Given the description of an element on the screen output the (x, y) to click on. 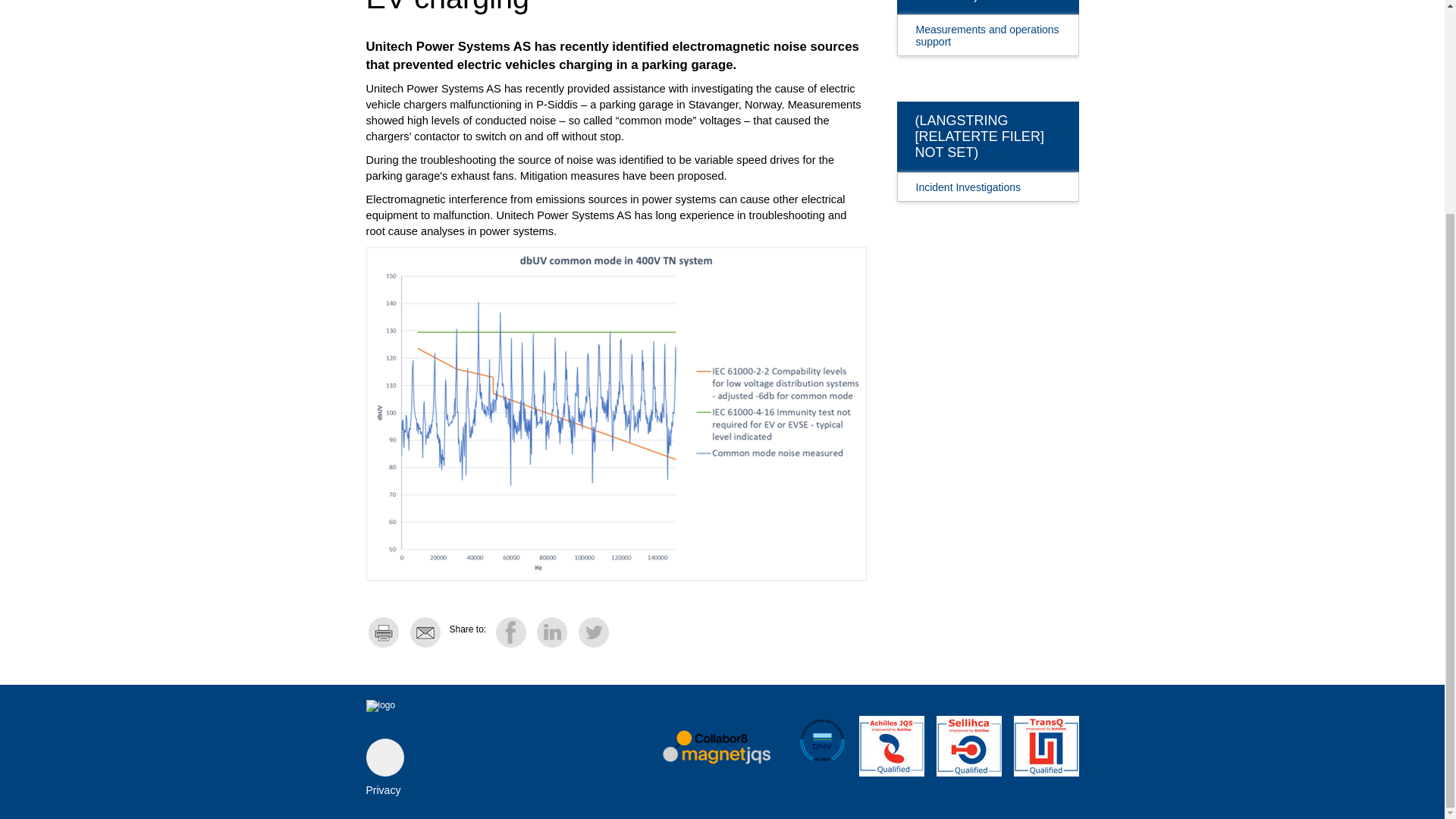
Incident Investigations (978, 182)
Measurements and operations support (978, 31)
Privacy (382, 789)
